Given the description of an element on the screen output the (x, y) to click on. 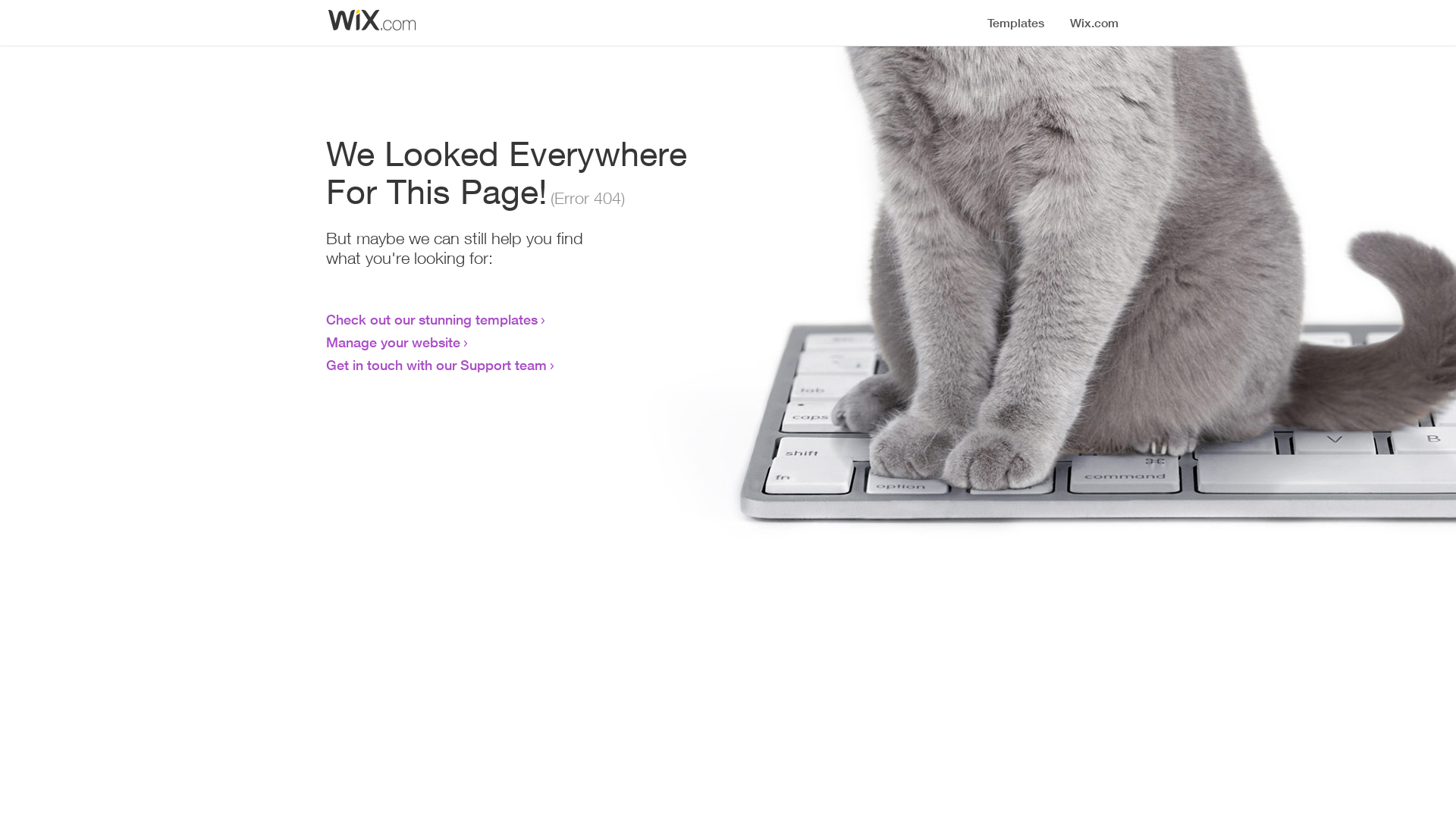
Get in touch with our Support team Element type: text (436, 364)
Manage your website Element type: text (393, 341)
Check out our stunning templates Element type: text (431, 318)
